Given the description of an element on the screen output the (x, y) to click on. 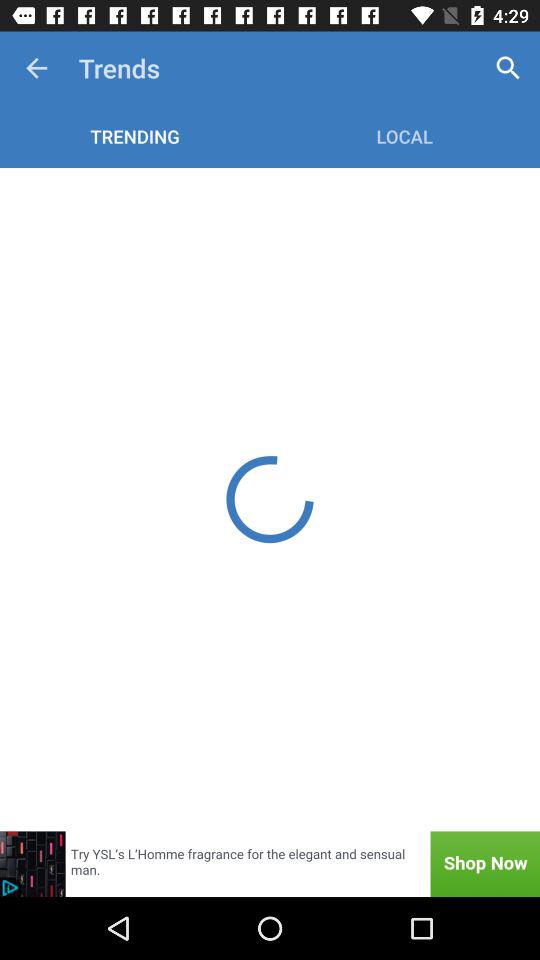
select the item to the right of trends item (508, 67)
